Given the description of an element on the screen output the (x, y) to click on. 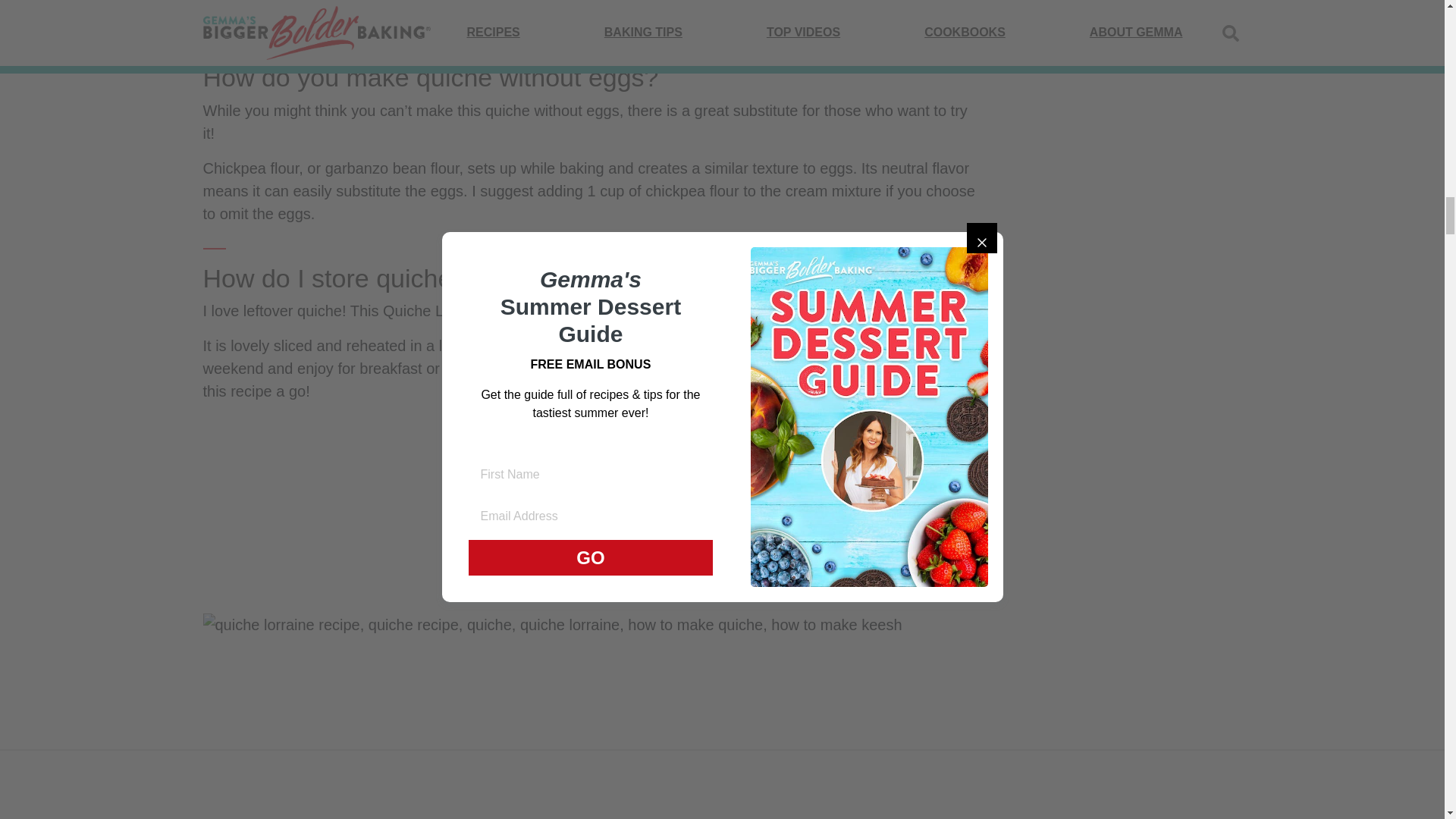
Quiche Lorraine Recipe: So easy, so tasty! (552, 624)
